Given the description of an element on the screen output the (x, y) to click on. 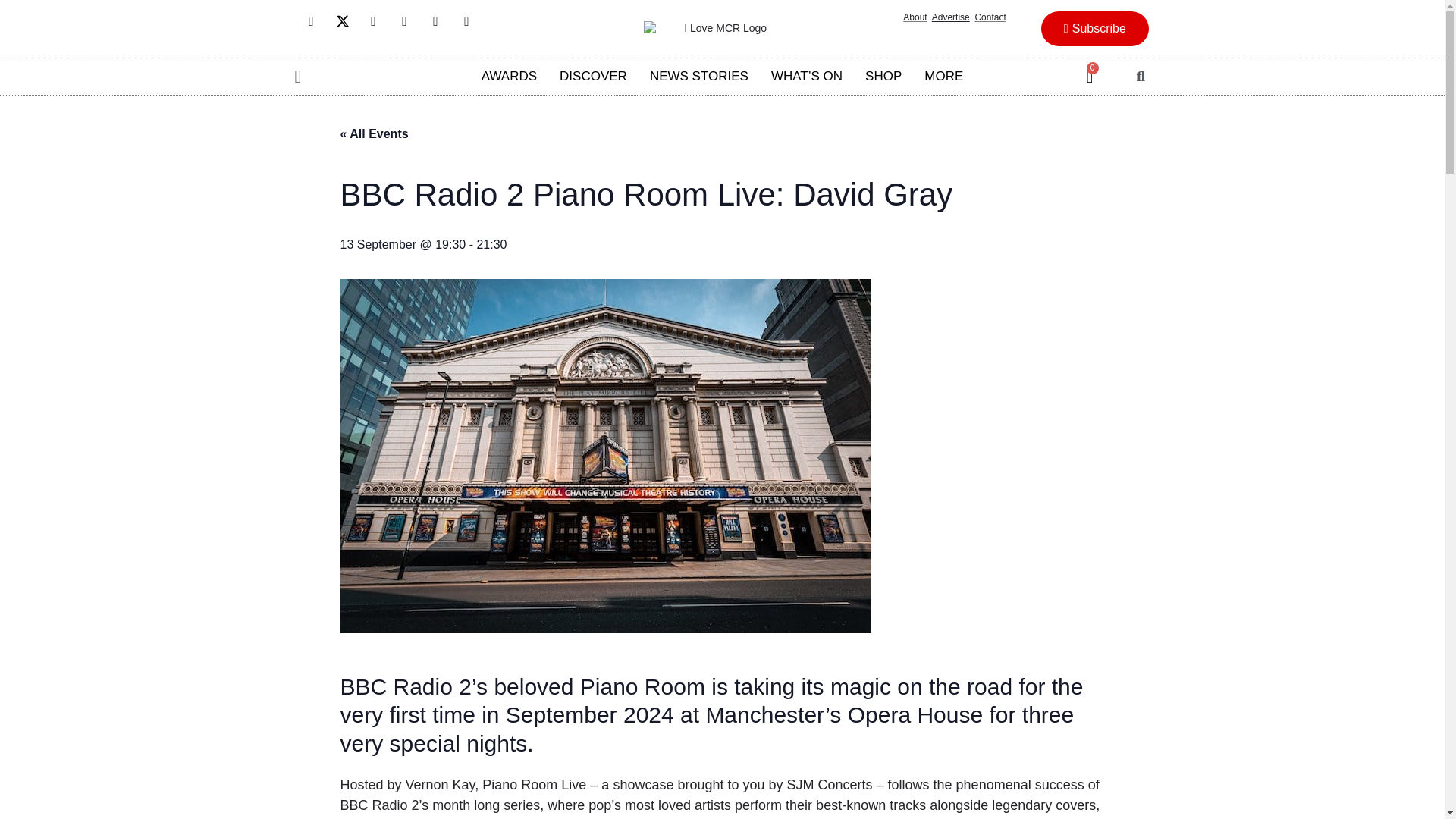
About (914, 17)
ilovemcr-website-logo 544 (718, 28)
NEWS STORIES (699, 76)
Subscribe (1094, 28)
AWARDS (509, 76)
DISCOVER (593, 76)
Advertise (950, 17)
Contact (990, 17)
